Given the description of an element on the screen output the (x, y) to click on. 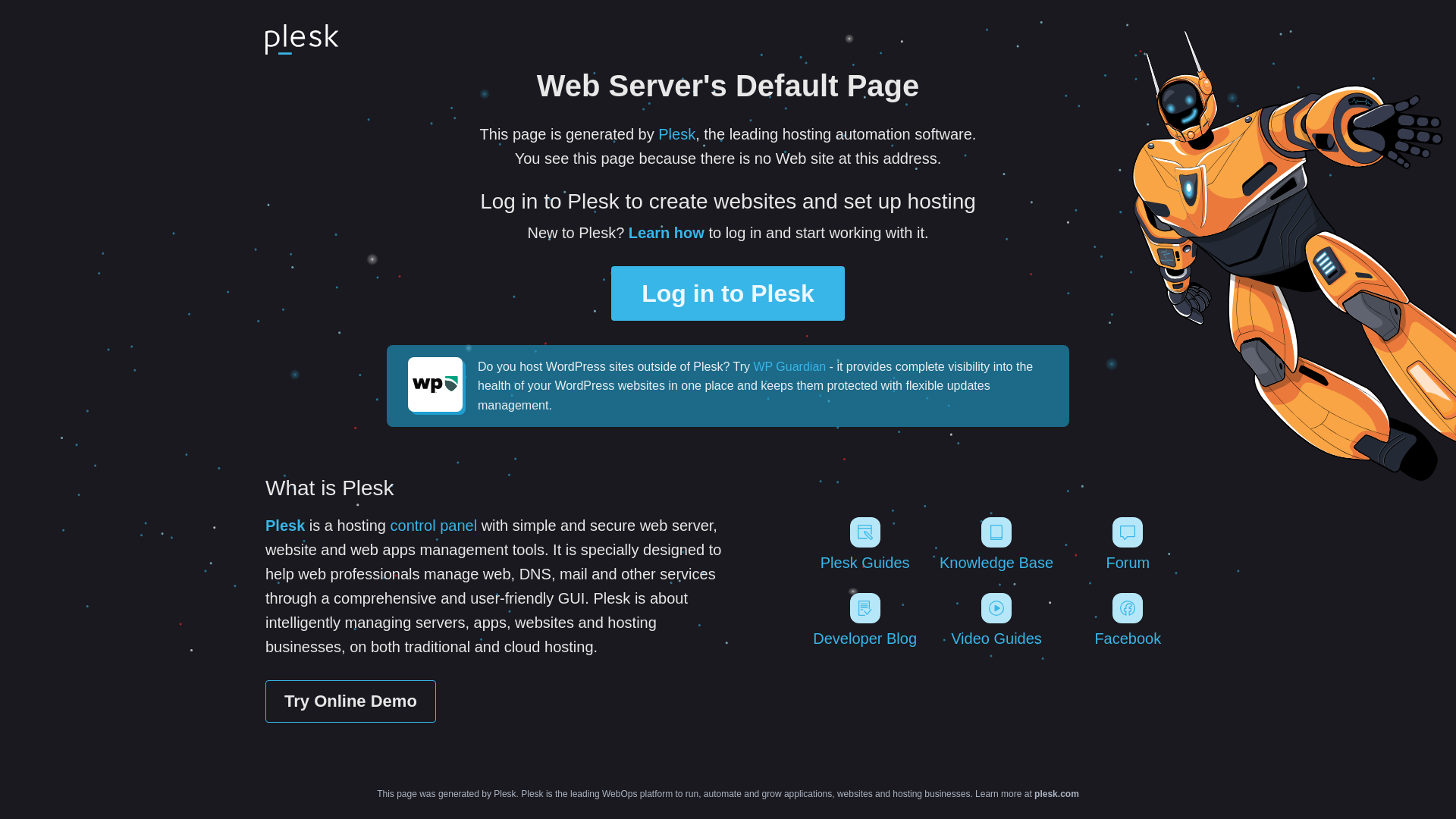
WP Guardian (788, 366)
Knowledge Base (995, 543)
Developer Blog (864, 619)
Plesk (676, 134)
Log in to Plesk (727, 293)
Facebook (1128, 619)
Video Guides (995, 619)
Try Online Demo (349, 701)
Plesk Guides (864, 543)
Forum (1128, 543)
Plesk (284, 524)
control panel (433, 524)
plesk.com (1055, 793)
Learn how (666, 232)
